Given the description of an element on the screen output the (x, y) to click on. 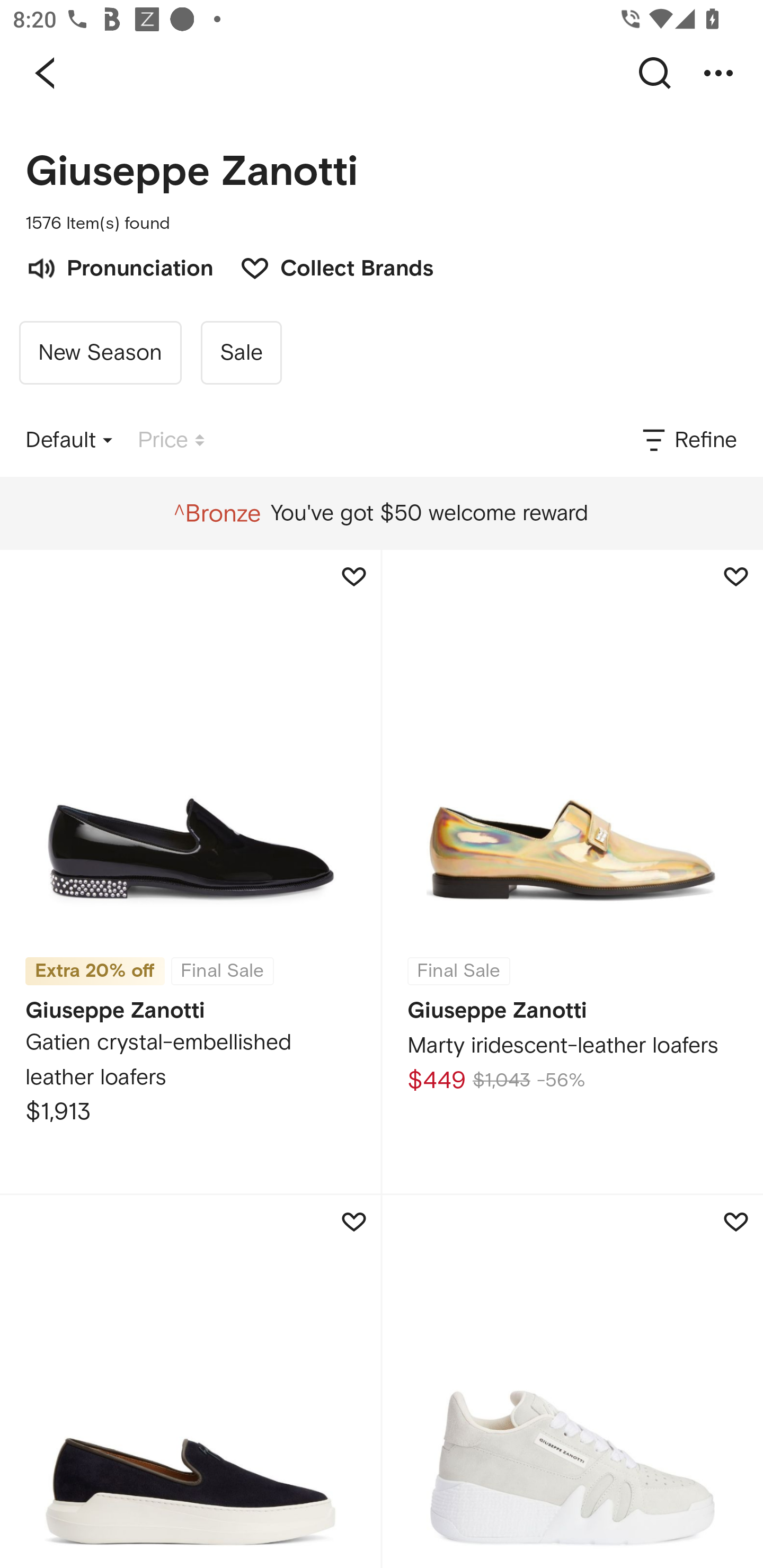
Pronunciation (119, 266)
Collect Brands (327, 266)
New Season (100, 352)
Sale (240, 352)
Default (68, 440)
Price (171, 440)
Refine (688, 440)
You've got $50 welcome reward (381, 513)
Extra 20% off (94, 963)
